Given the description of an element on the screen output the (x, y) to click on. 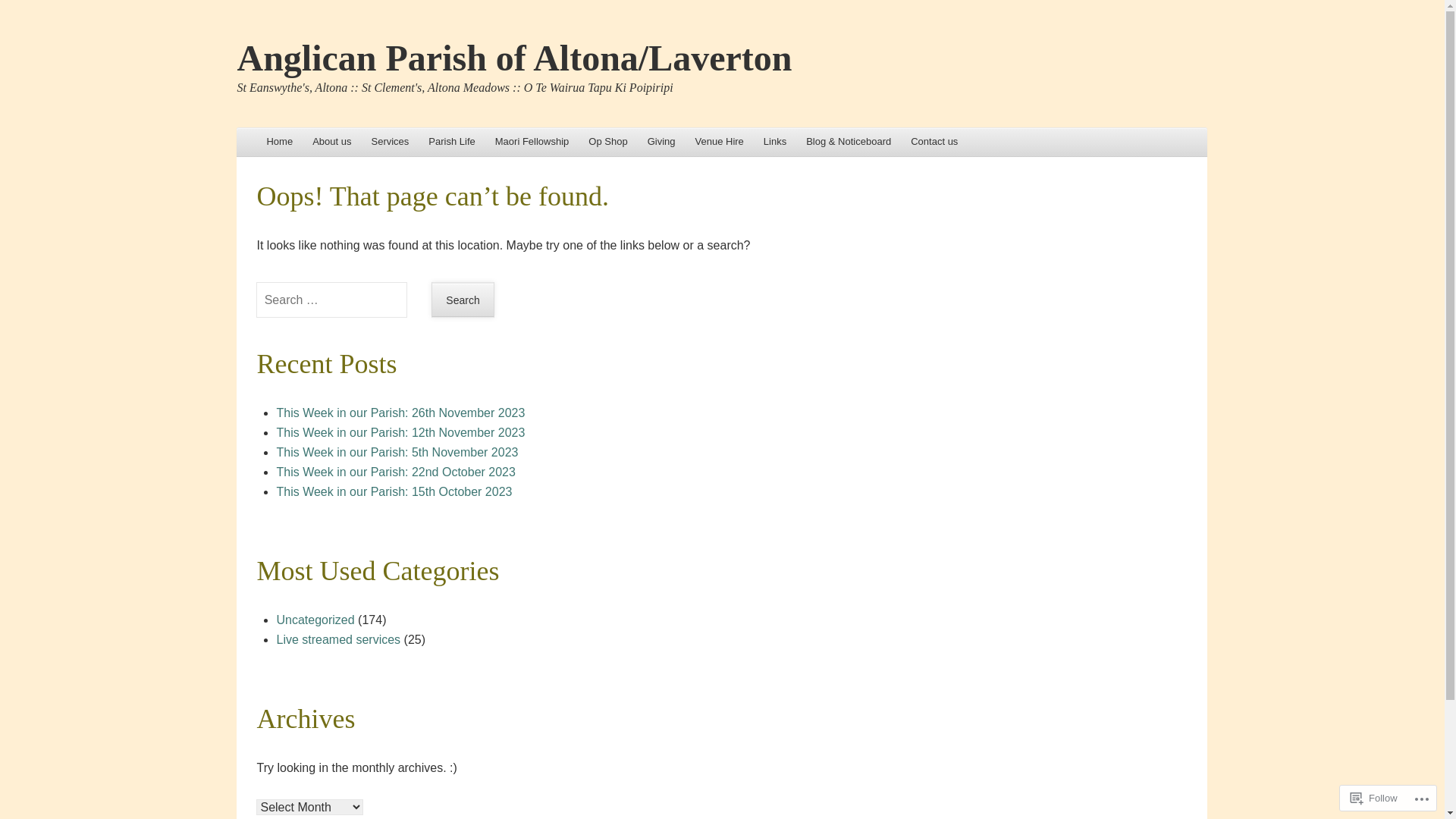
Live streamed services Element type: text (338, 639)
Maori Fellowship Element type: text (532, 141)
Contact us Element type: text (933, 141)
Uncategorized Element type: text (315, 619)
This Week in our Parish: 12th November 2023 Element type: text (400, 432)
This Week in our Parish: 5th November 2023 Element type: text (396, 451)
This Week in our Parish: 22nd October 2023 Element type: text (395, 471)
This Week in our Parish: 26th November 2023 Element type: text (400, 412)
Follow Element type: text (1373, 797)
Op Shop Element type: text (607, 141)
Skip to content Element type: text (278, 141)
Blog & Noticeboard Element type: text (848, 141)
Services Element type: text (389, 141)
Venue Hire Element type: text (719, 141)
This Week in our Parish: 15th October 2023 Element type: text (393, 491)
Giving Element type: text (661, 141)
About us Element type: text (331, 141)
Anglican Parish of Altona/Laverton Element type: text (513, 57)
Parish Life Element type: text (451, 141)
Links Element type: text (774, 141)
Home Element type: text (279, 141)
Search Element type: text (462, 299)
